Given the description of an element on the screen output the (x, y) to click on. 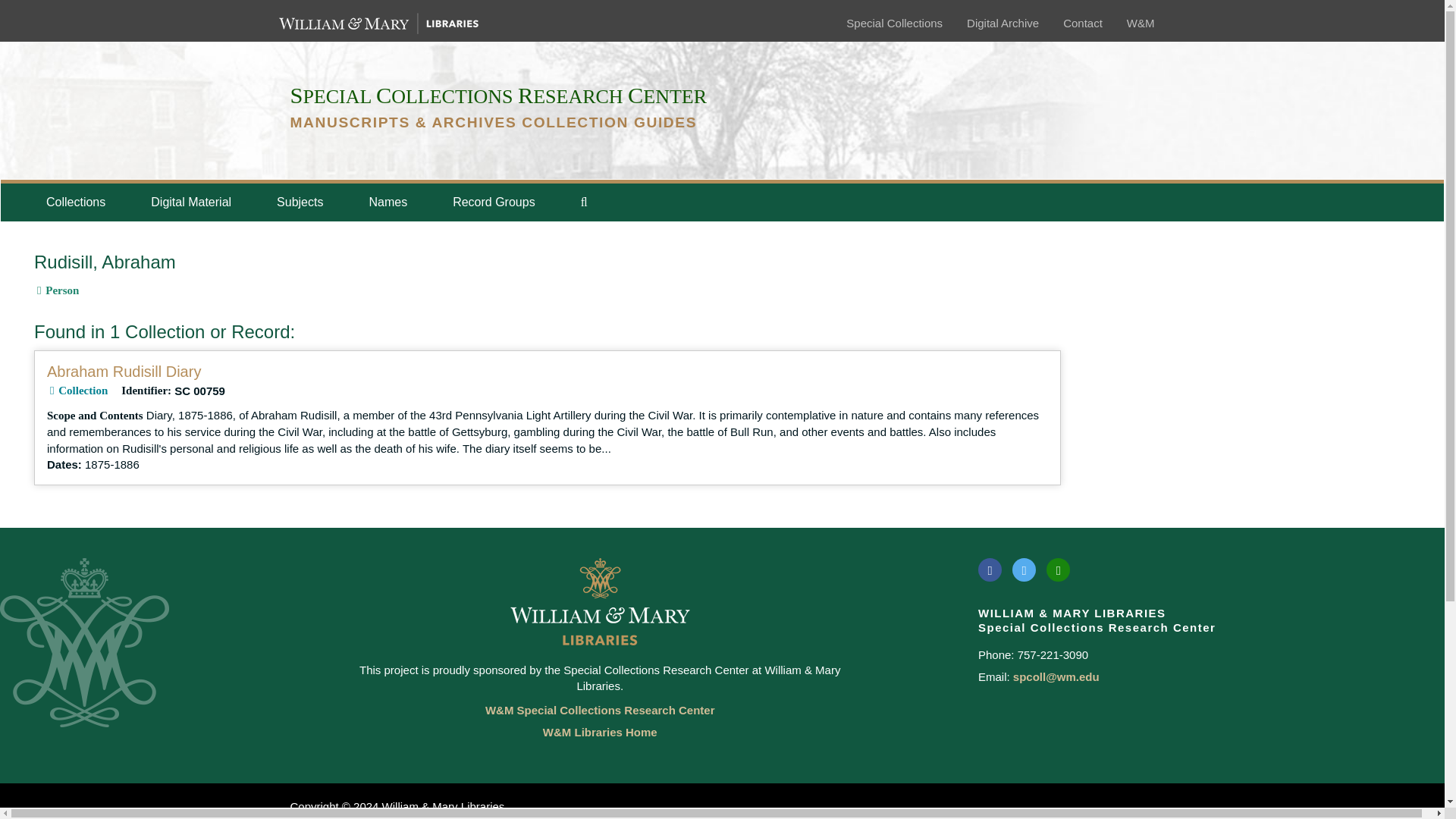
Special Collections (893, 23)
Contact (1082, 23)
Abraham Rudisill Diary (123, 371)
Special Collections Facebook (989, 569)
Names (387, 202)
Collections (75, 202)
Special Collections Twitter (1023, 569)
SPECIAL COLLECTIONS RESEARCH CENTER (497, 96)
Search The Archives (583, 202)
Digital Archive (1002, 23)
